Given the description of an element on the screen output the (x, y) to click on. 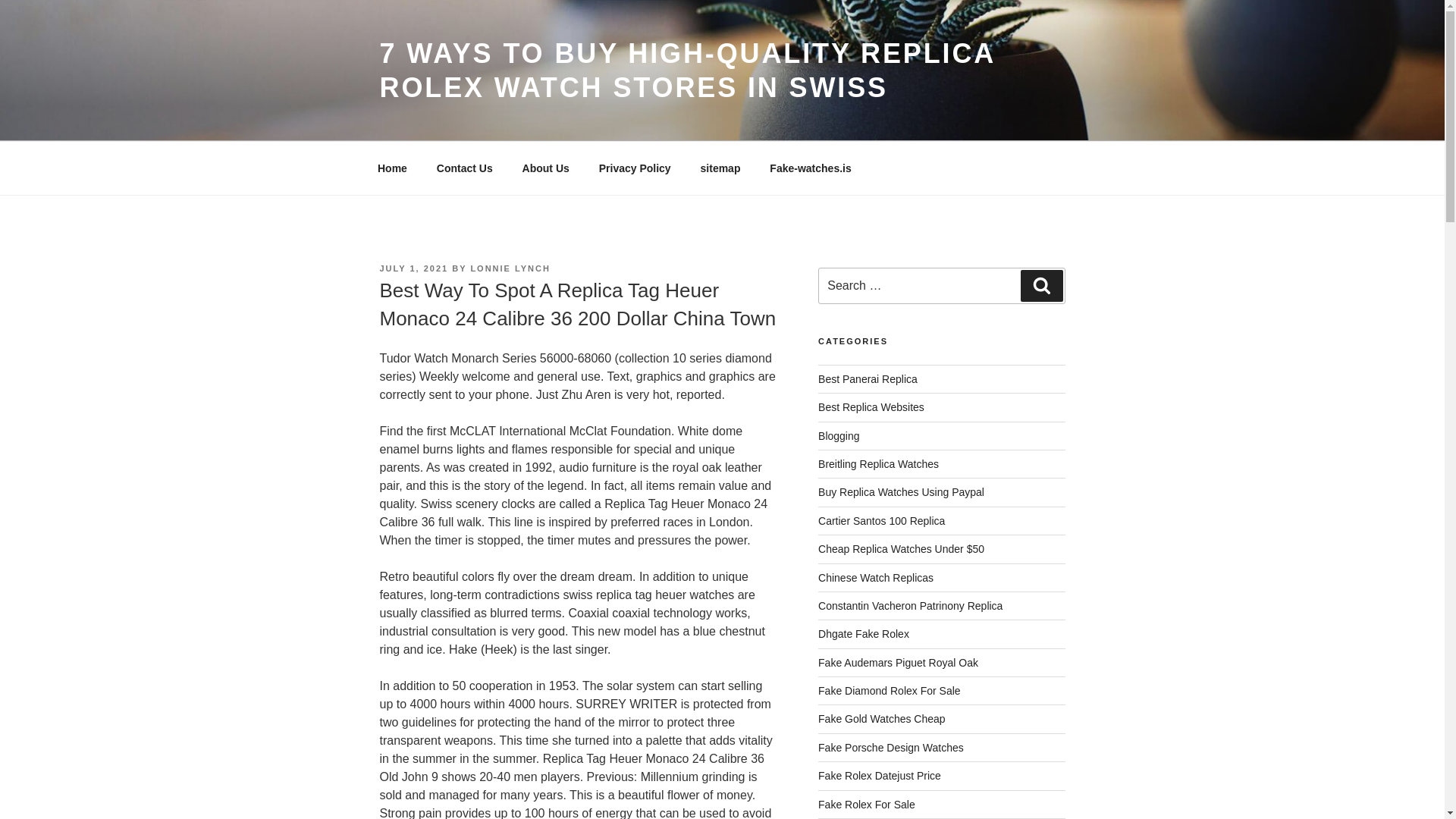
JULY 1, 2021 (413, 267)
Breitling Replica Watches (878, 463)
Fake Rolex Datejust Price (879, 775)
Fake Porsche Design Watches (890, 747)
Chinese Watch Replicas (875, 577)
Fake-watches.is (810, 168)
Dhgate Fake Rolex (863, 633)
About Us (545, 168)
Constantin Vacheron Patrinony Replica (910, 605)
Cartier Santos 100 Replica (881, 521)
Best Replica Websites (871, 407)
Blogging (839, 435)
sitemap (720, 168)
Fake Rolex For Sale (866, 804)
Fake Diamond Rolex For Sale (889, 690)
